Given the description of an element on the screen output the (x, y) to click on. 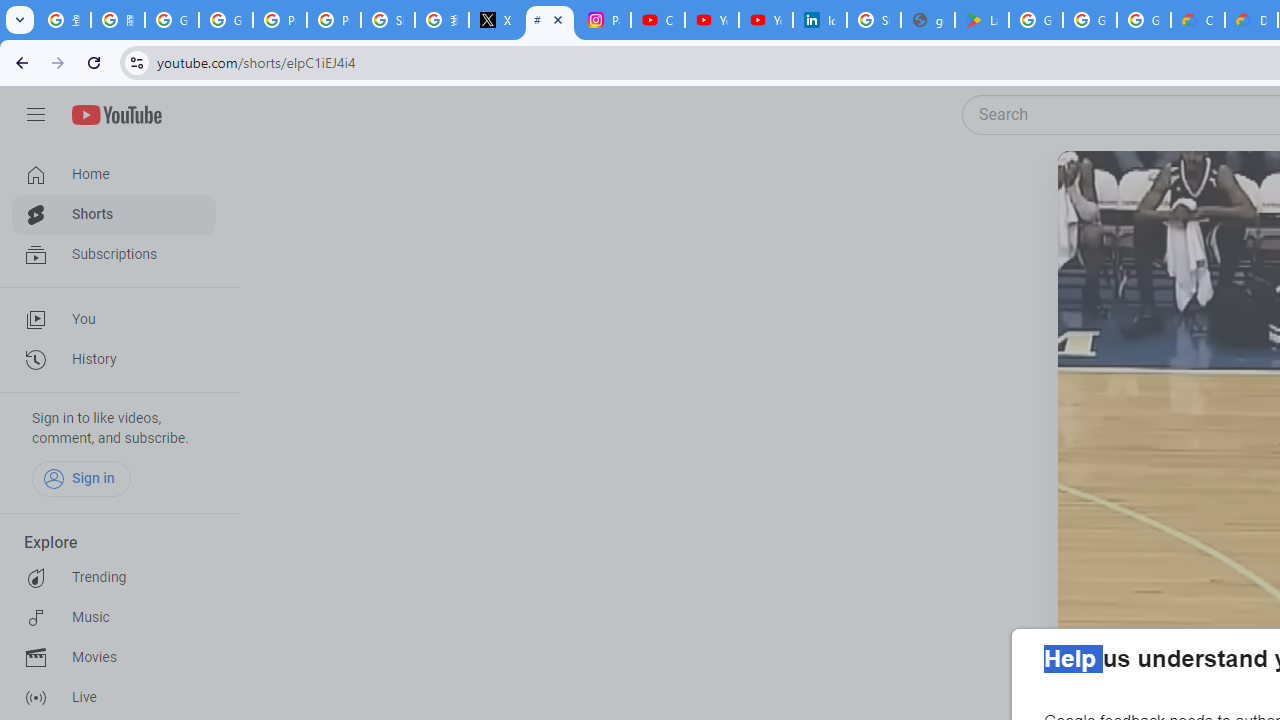
Google Workspace - Specific Terms (1089, 20)
Sign in - Google Accounts (874, 20)
Last Shelter: Survival - Apps on Google Play (981, 20)
Mute (1154, 191)
X (495, 20)
